Given the description of an element on the screen output the (x, y) to click on. 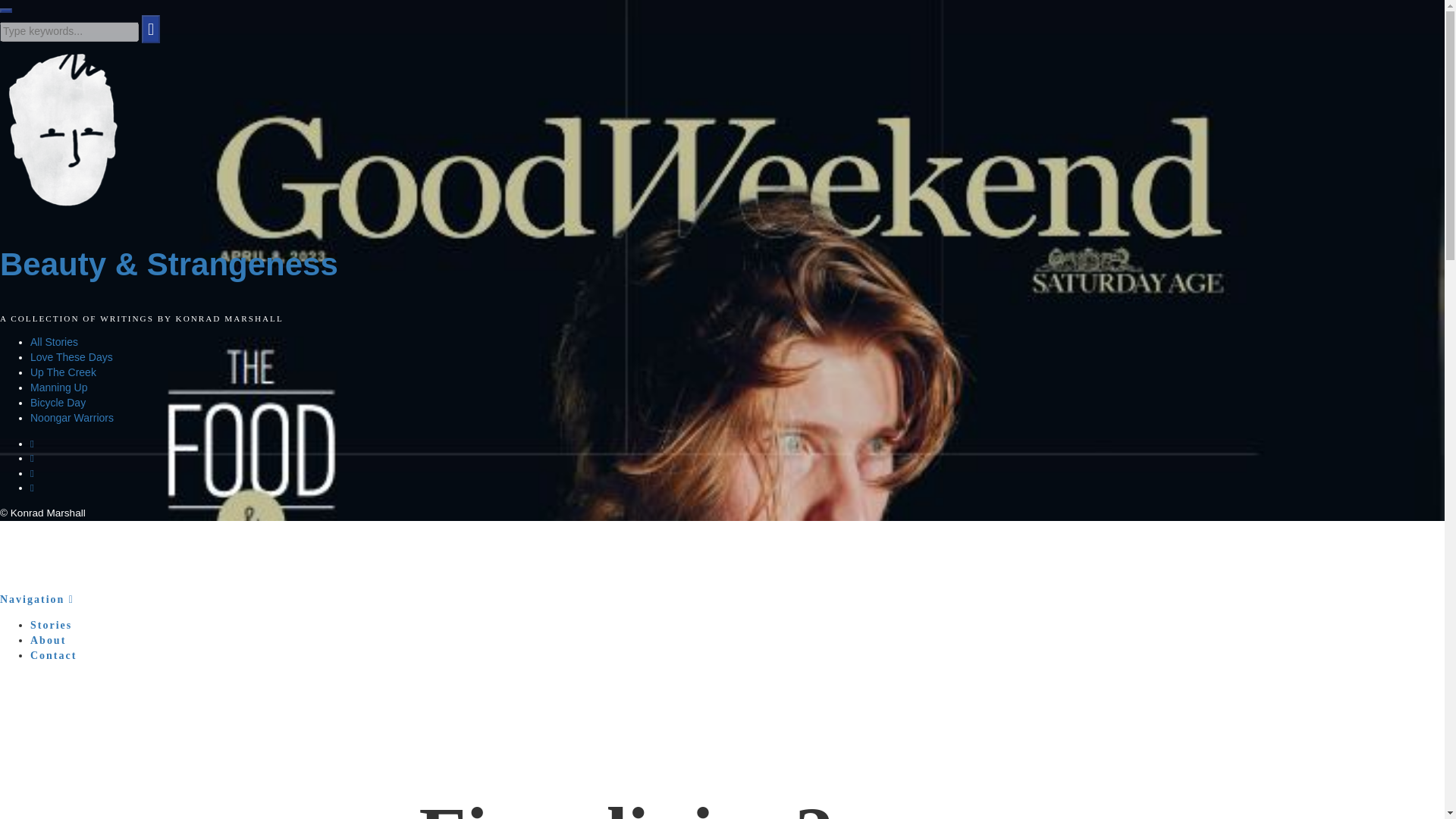
Up The Creek (63, 372)
All Stories (54, 341)
Manning Up (58, 387)
Noongar Warriors (71, 417)
Search for: (69, 31)
About (47, 640)
Stories (50, 624)
Navigation (37, 599)
Love These Days (71, 357)
Bicycle Day (57, 402)
Contact (53, 655)
Navigation (37, 599)
